Given the description of an element on the screen output the (x, y) to click on. 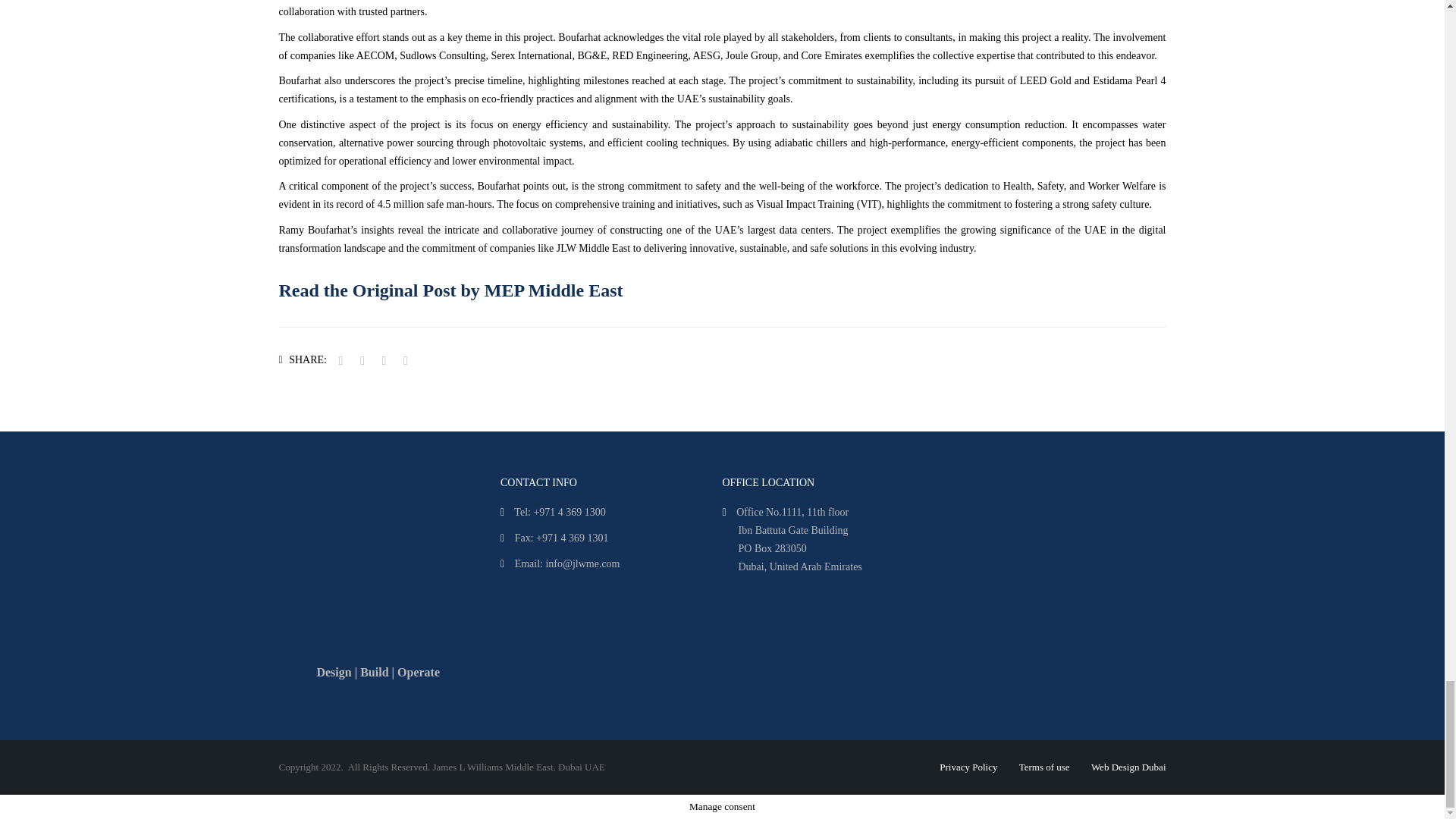
Read the Original Post by MEP Middle East (451, 289)
Privacy Policy (968, 767)
Terms of use (1044, 767)
Web Design Dubai (1128, 767)
